Given the description of an element on the screen output the (x, y) to click on. 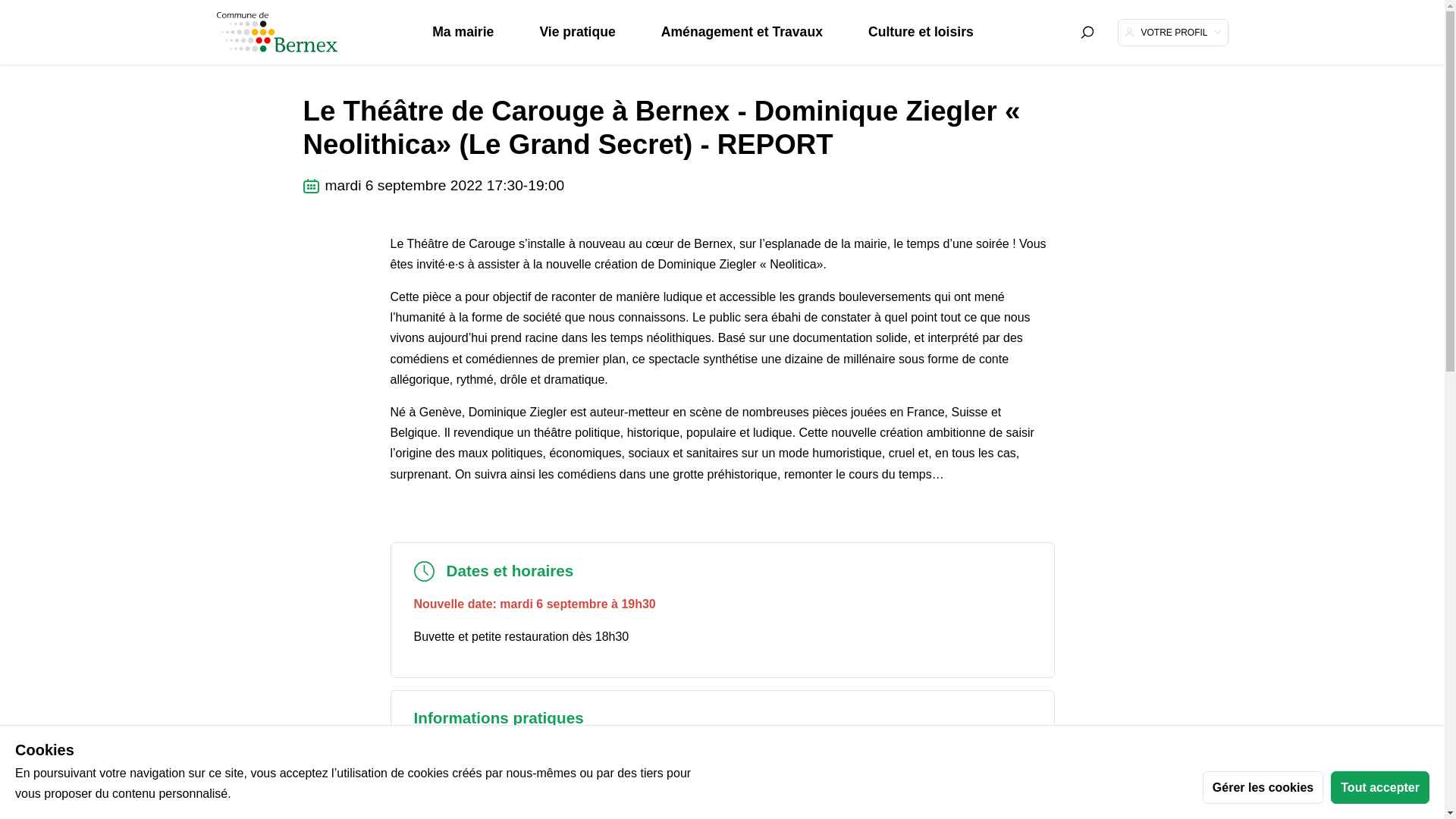
Tout accepter Element type: text (1379, 787)
Vie pratique Element type: text (576, 32)
Culture et loisirs Element type: text (920, 32)
Ma mairie Element type: text (462, 32)
VOTRE PROFIL Element type: text (1172, 31)
Accueil Element type: text (331, 41)
